Given the description of an element on the screen output the (x, y) to click on. 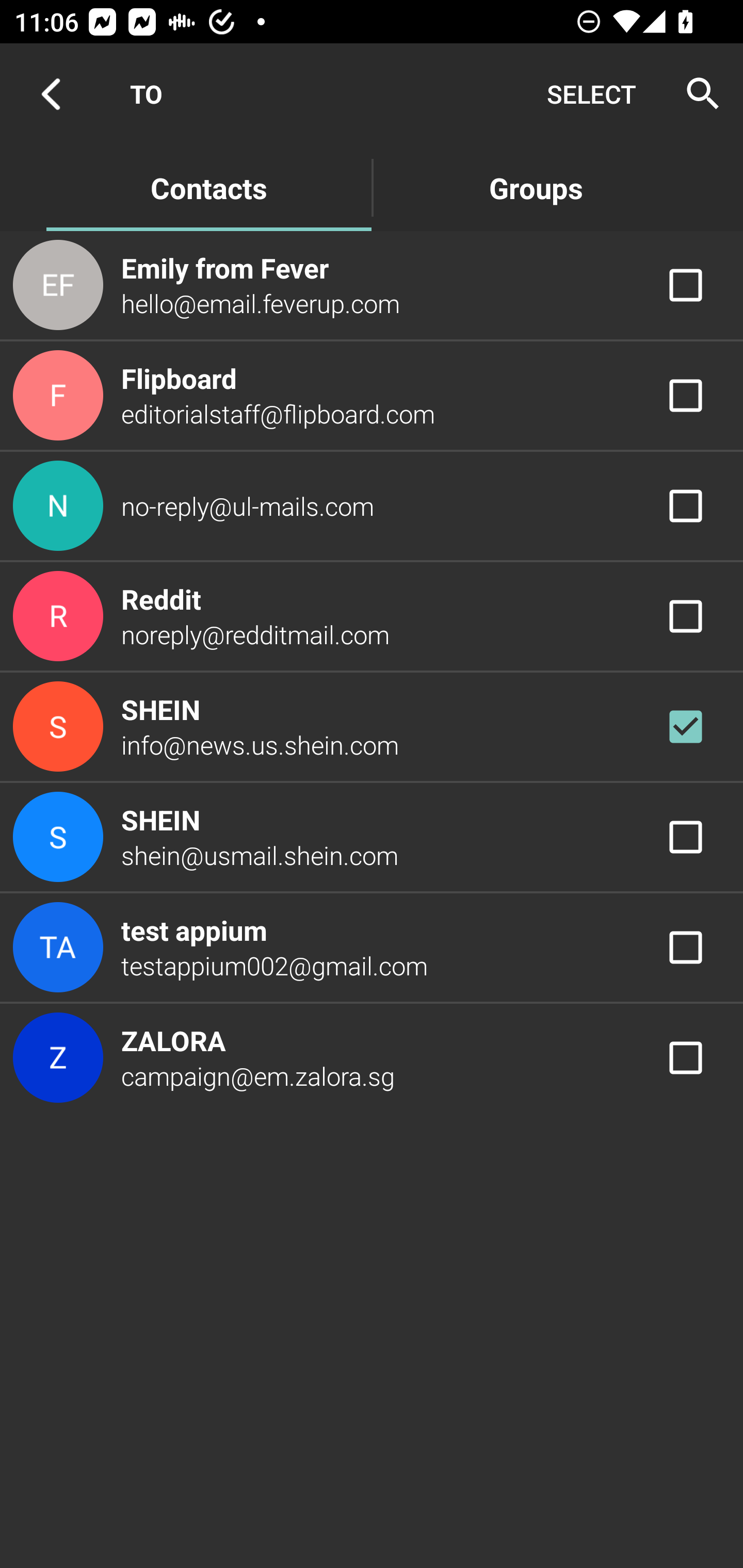
Navigate up (50, 93)
SELECT (590, 93)
Search (696, 93)
Contacts (208, 187)
Groups (535, 187)
Emily from Fever hello@email.feverup.com (371, 284)
Flipboard editorialstaff@flipboard.com (371, 395)
no-reply@ul-mails.com (371, 505)
Reddit noreply@redditmail.com (371, 616)
SHEIN info@news.us.shein.com (371, 726)
SHEIN shein@usmail.shein.com (371, 836)
test appium testappium002@gmail.com (371, 947)
ZALORA campaign@em.zalora.sg (371, 1057)
